Given the description of an element on the screen output the (x, y) to click on. 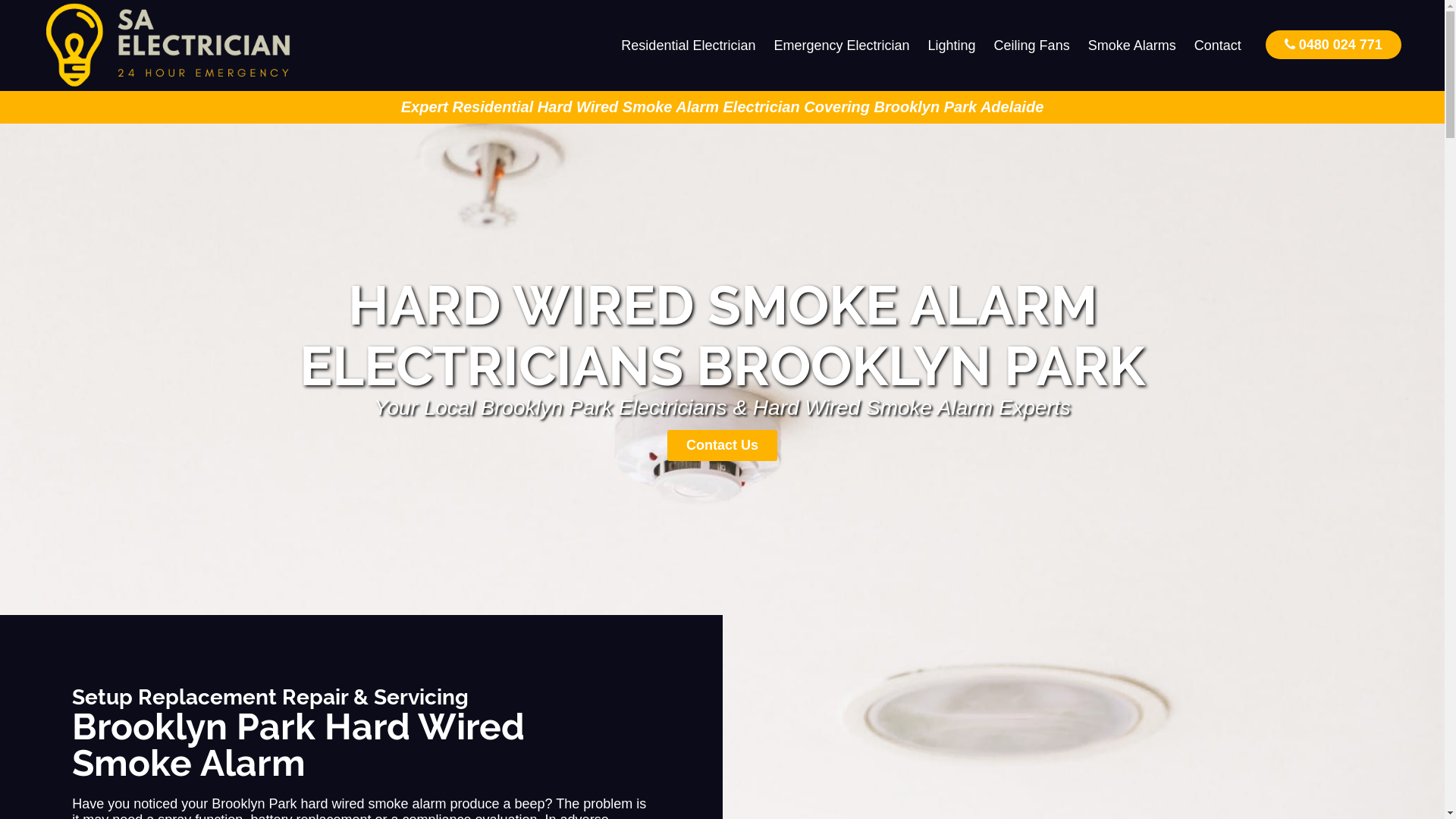
Residential Electrician Element type: text (687, 45)
Contact Us Element type: text (722, 445)
Contact Element type: text (1217, 45)
0480 024 771 Element type: text (1333, 44)
Smoke Alarms Element type: text (1132, 45)
Emergency Electrician Element type: text (841, 45)
Lighting Element type: text (952, 45)
Ceiling Fans Element type: text (1032, 45)
